Given the description of an element on the screen output the (x, y) to click on. 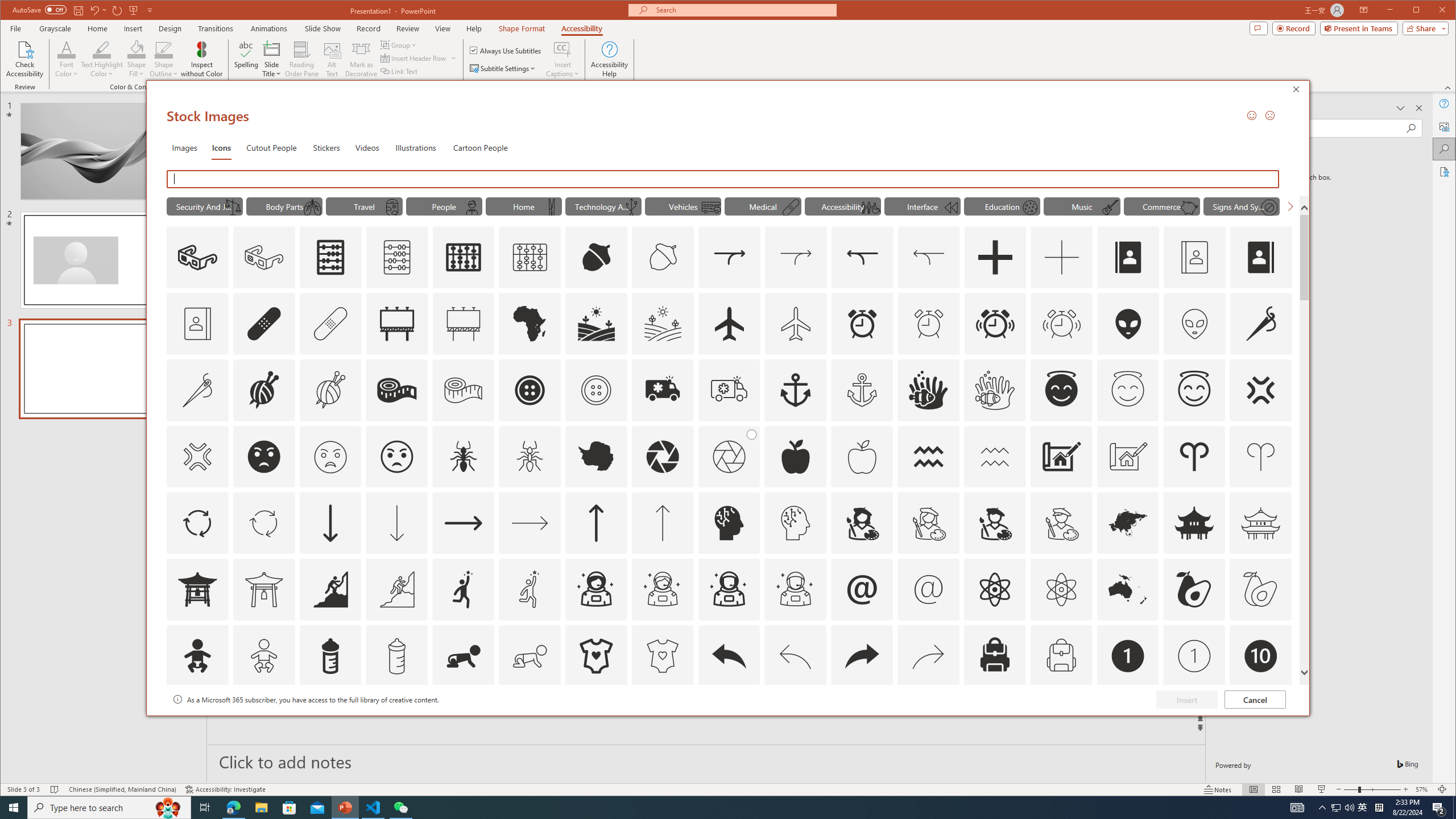
"Medical" Icons. (762, 206)
AutomationID: Icons_PlaneWindow_M (392, 207)
AutomationID: Icons_Mercury_M (1335, 807)
AutomationID: Icons_Abacus_M (1029, 207)
AutomationID: Icons_Back_RTL_M (397, 256)
"Body Parts" Icons. (928, 655)
Link Text (283, 206)
